Given the description of an element on the screen output the (x, y) to click on. 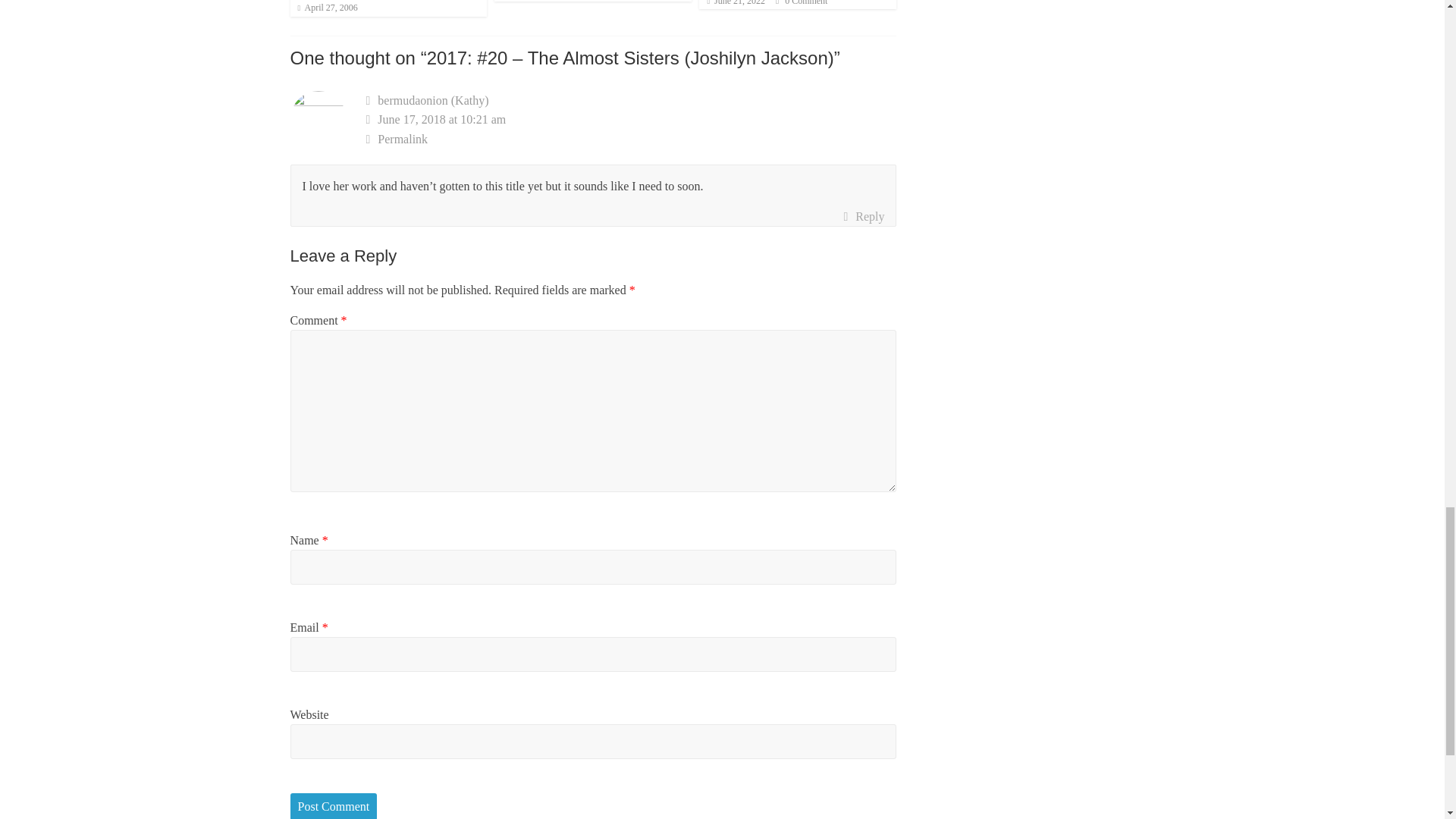
Post Comment (333, 806)
Permalink (630, 139)
April 27, 2006 (326, 7)
0 Comment (801, 2)
Reply (863, 216)
12:56 pm (735, 2)
Post Comment (333, 806)
7:22 pm (326, 7)
June 21, 2022 (735, 2)
